Given the description of an element on the screen output the (x, y) to click on. 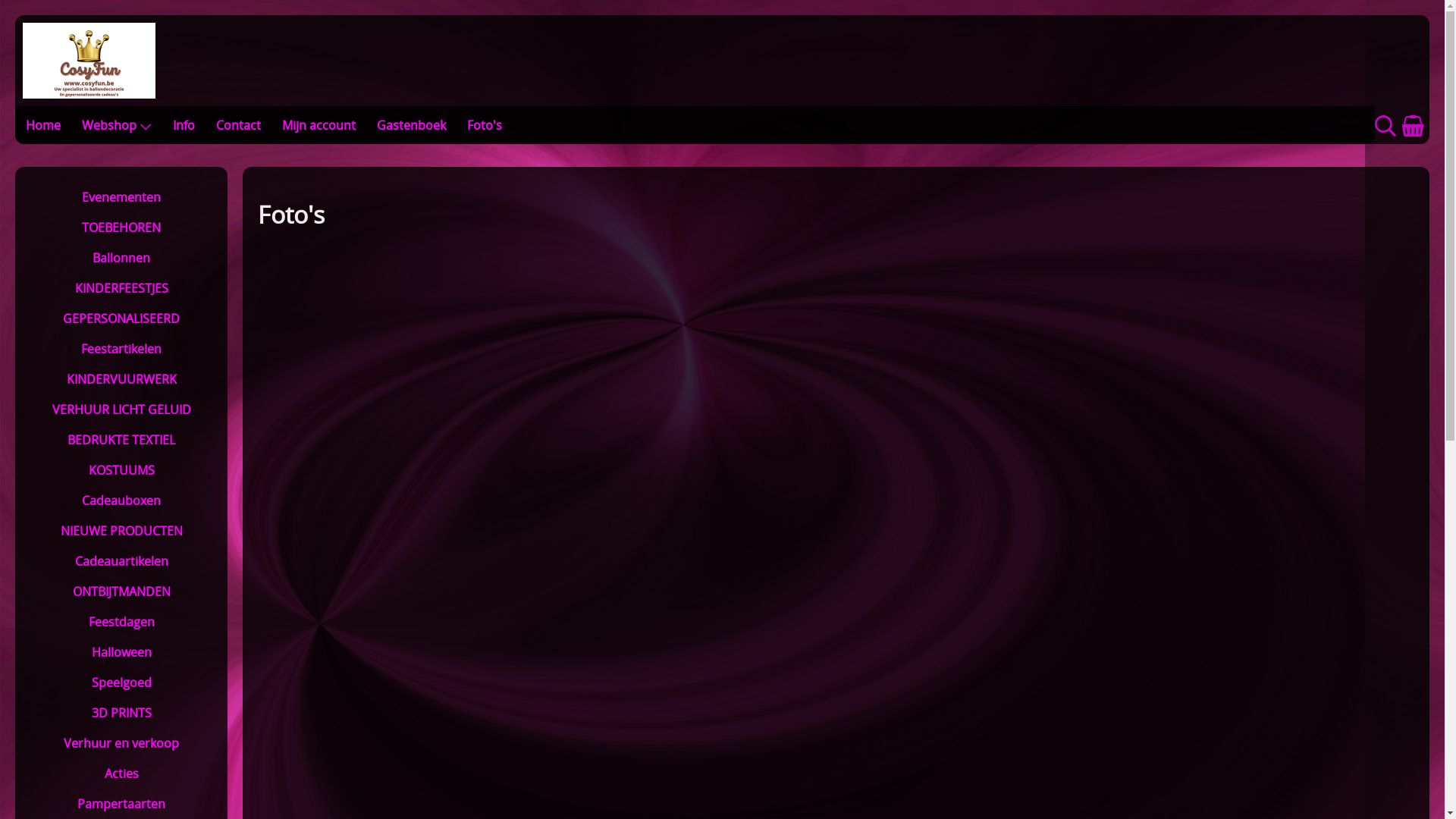
GEPERSONALISEERD Element type: text (121, 318)
Acties Element type: text (121, 773)
KINDERVUURWERK Element type: text (121, 379)
Gastenboek Element type: text (411, 125)
3D PRINTS Element type: text (121, 712)
Ballonnen Element type: text (121, 257)
Zoeken Element type: text (1385, 131)
ONTBIJTMANDEN Element type: text (121, 591)
Info Element type: text (183, 125)
Feestartikelen Element type: text (121, 348)
BEDRUKTE TEXTIEL Element type: text (121, 439)
Evenementen Element type: text (121, 197)
Verhuur en verkoop Element type: text (121, 743)
Foto's Element type: text (484, 125)
Halloween Element type: text (121, 652)
Mijn account Element type: text (318, 125)
TOEBEHOREN Element type: text (121, 227)
KOSTUUMS Element type: text (121, 470)
Webshop Element type: text (116, 125)
KINDERFEESTJES Element type: text (121, 288)
NIEUWE PRODUCTEN Element type: text (121, 530)
Feestdagen Element type: text (121, 621)
Speelgoed Element type: text (121, 682)
VERHUUR LICHT GELUID Element type: text (121, 409)
Contact Element type: text (238, 125)
Cadeauartikelen Element type: text (121, 561)
Cadeauboxen Element type: text (121, 500)
Home Element type: text (43, 125)
